Given the description of an element on the screen output the (x, y) to click on. 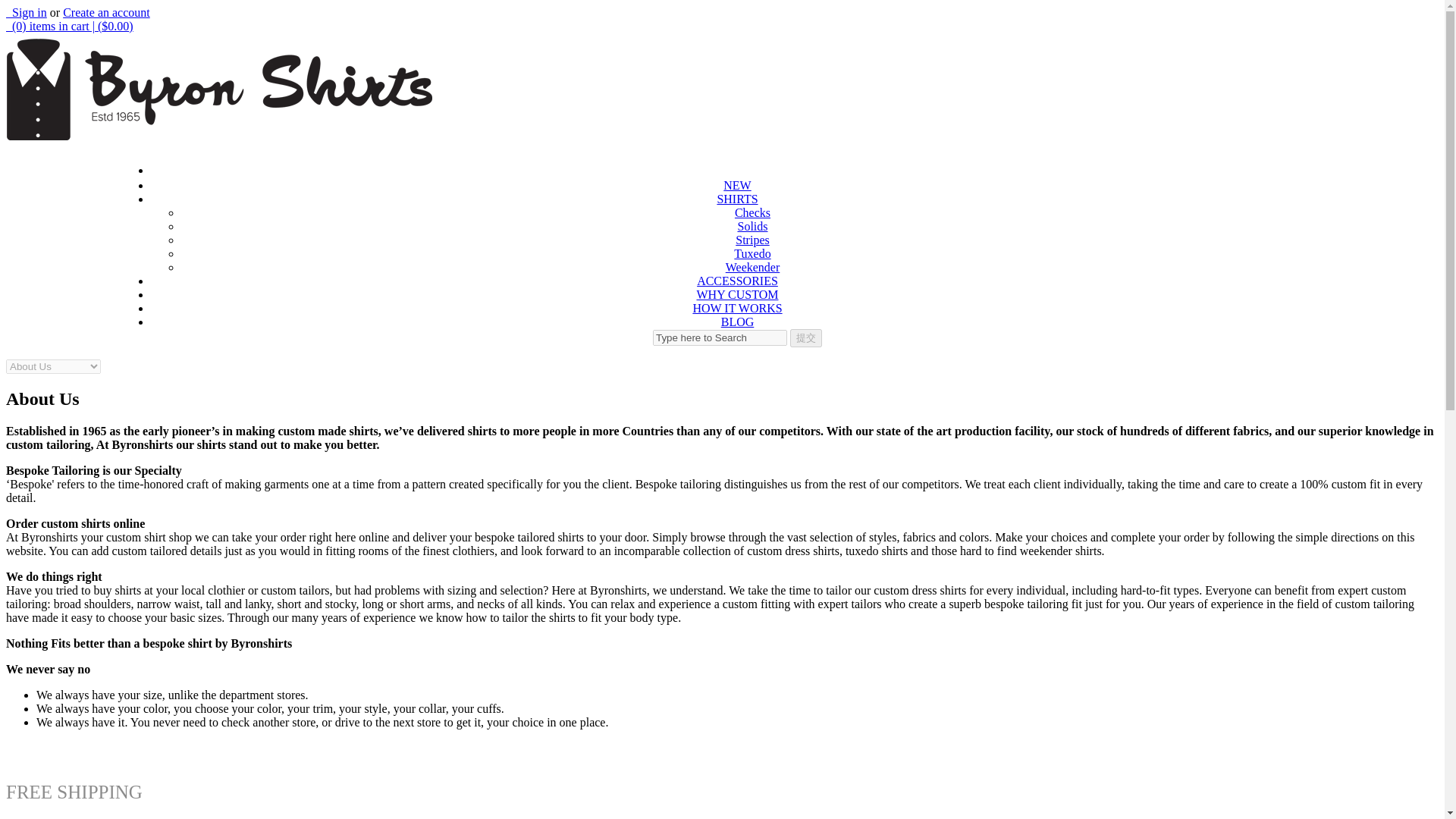
Tuxedo (751, 253)
Type here to Search (719, 337)
Solids (751, 226)
  Sign in (25, 11)
WHY CUSTOM (736, 294)
Weekender (752, 267)
BLOG (737, 321)
Checks (752, 212)
HOW IT WORKS (737, 308)
Create an account (105, 11)
